Given the description of an element on the screen output the (x, y) to click on. 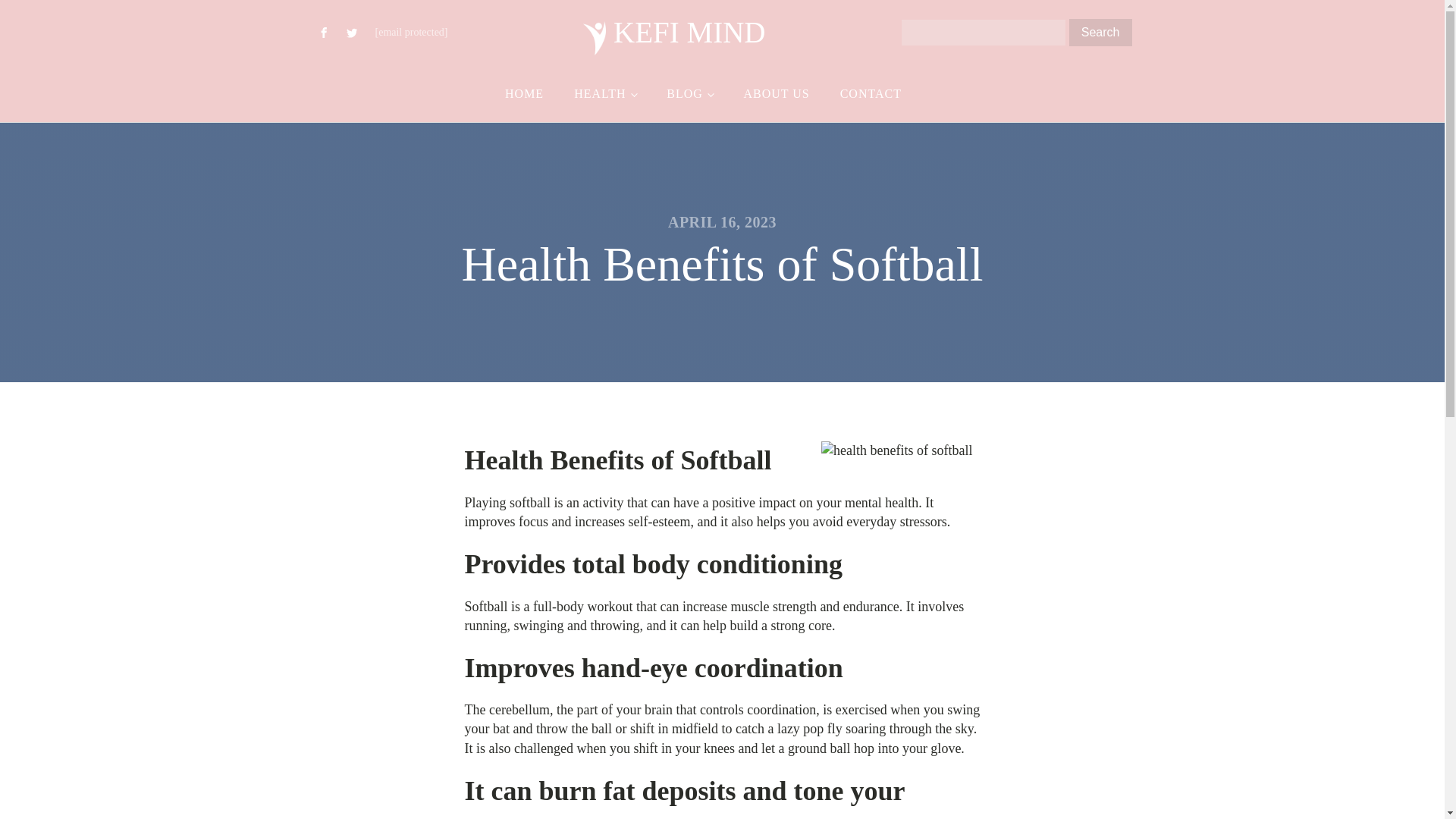
HOME (524, 94)
KEFI MIND (674, 32)
ABOUT US (776, 94)
HEALTH (604, 94)
BLOG (689, 94)
Search (1100, 31)
Search (1100, 31)
CONTACT (871, 94)
